Given the description of an element on the screen output the (x, y) to click on. 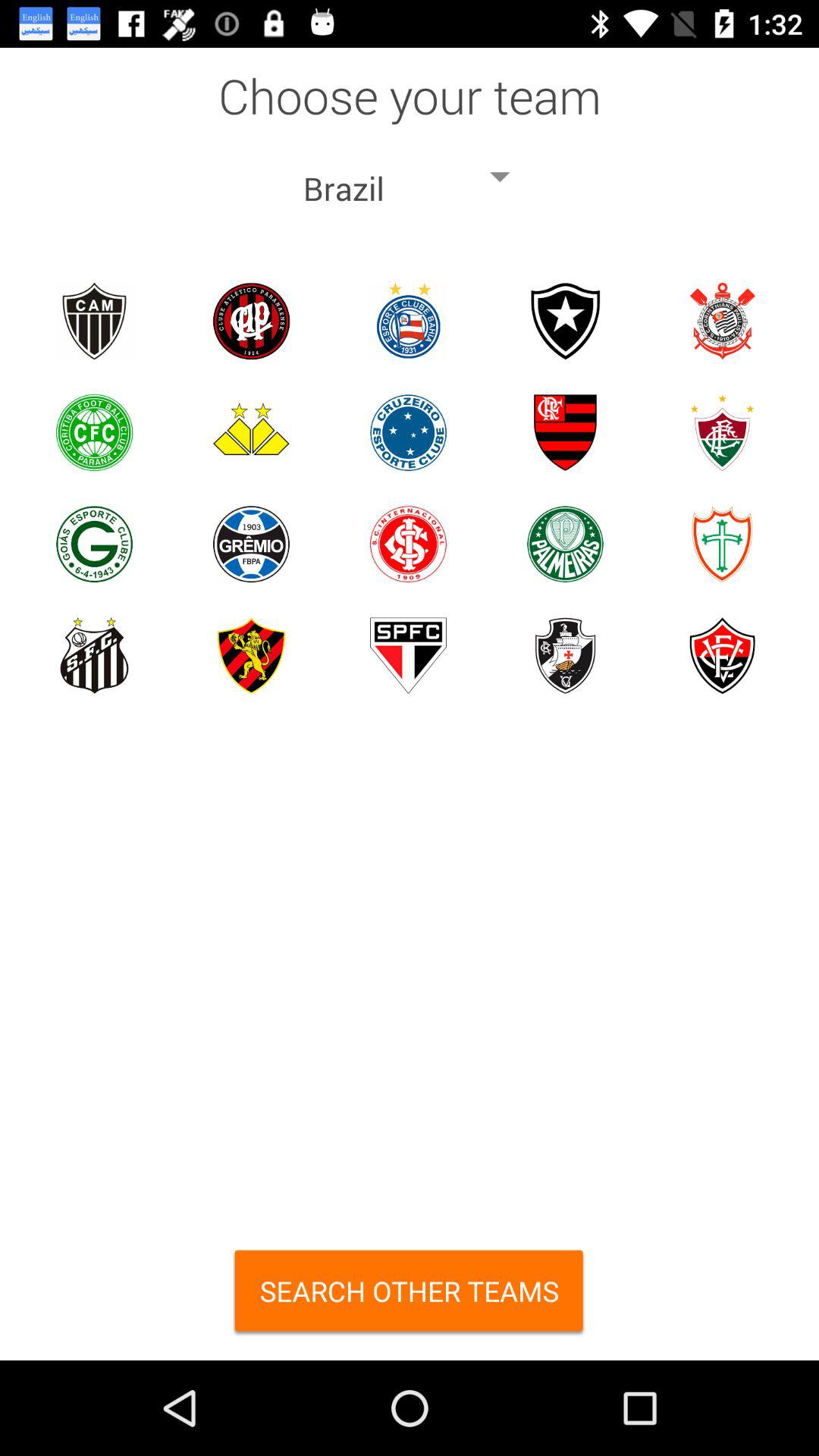
select botafogo regatas (565, 321)
